Given the description of an element on the screen output the (x, y) to click on. 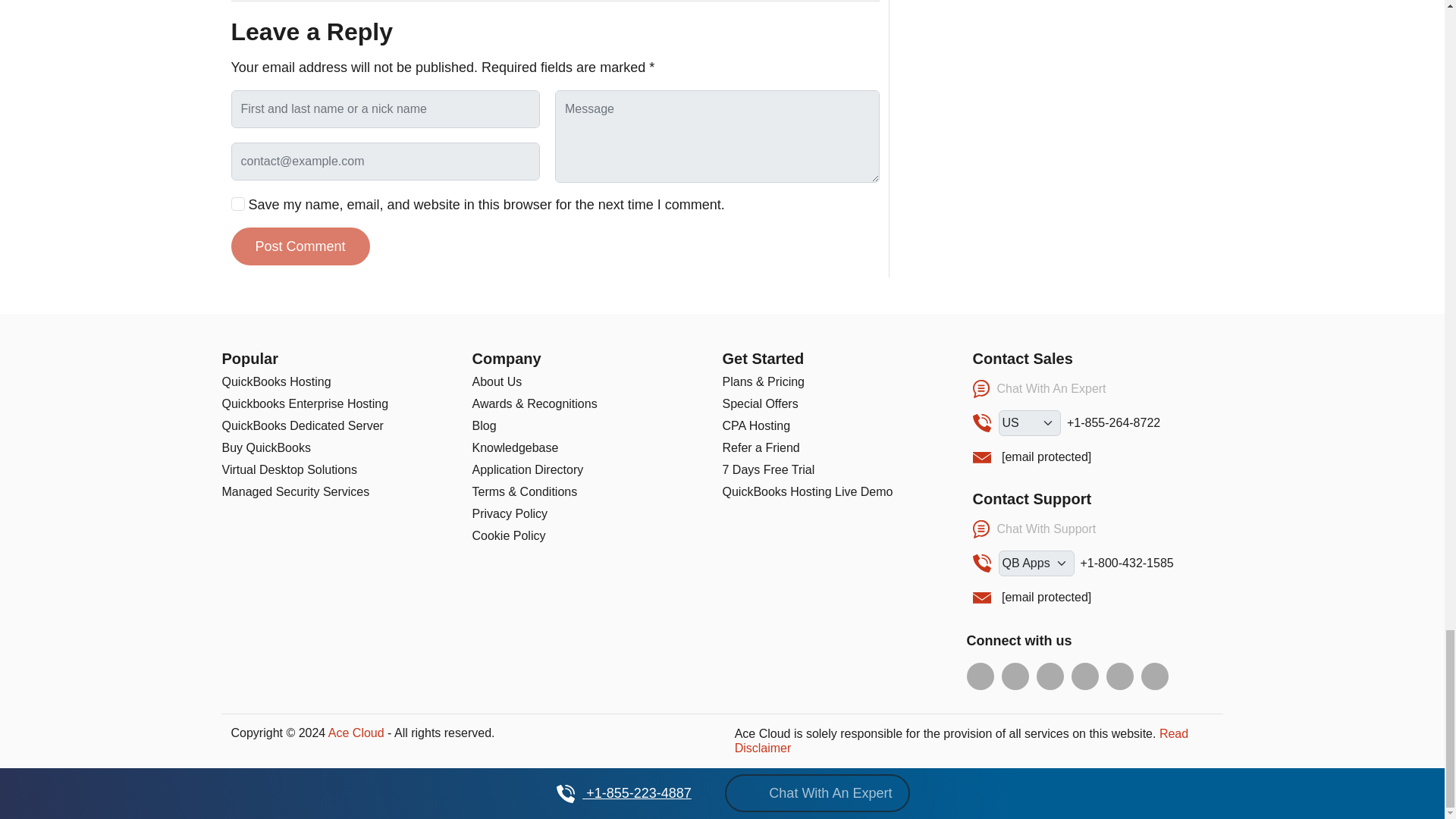
yes (237, 203)
Post Comment (299, 246)
